Given the description of an element on the screen output the (x, y) to click on. 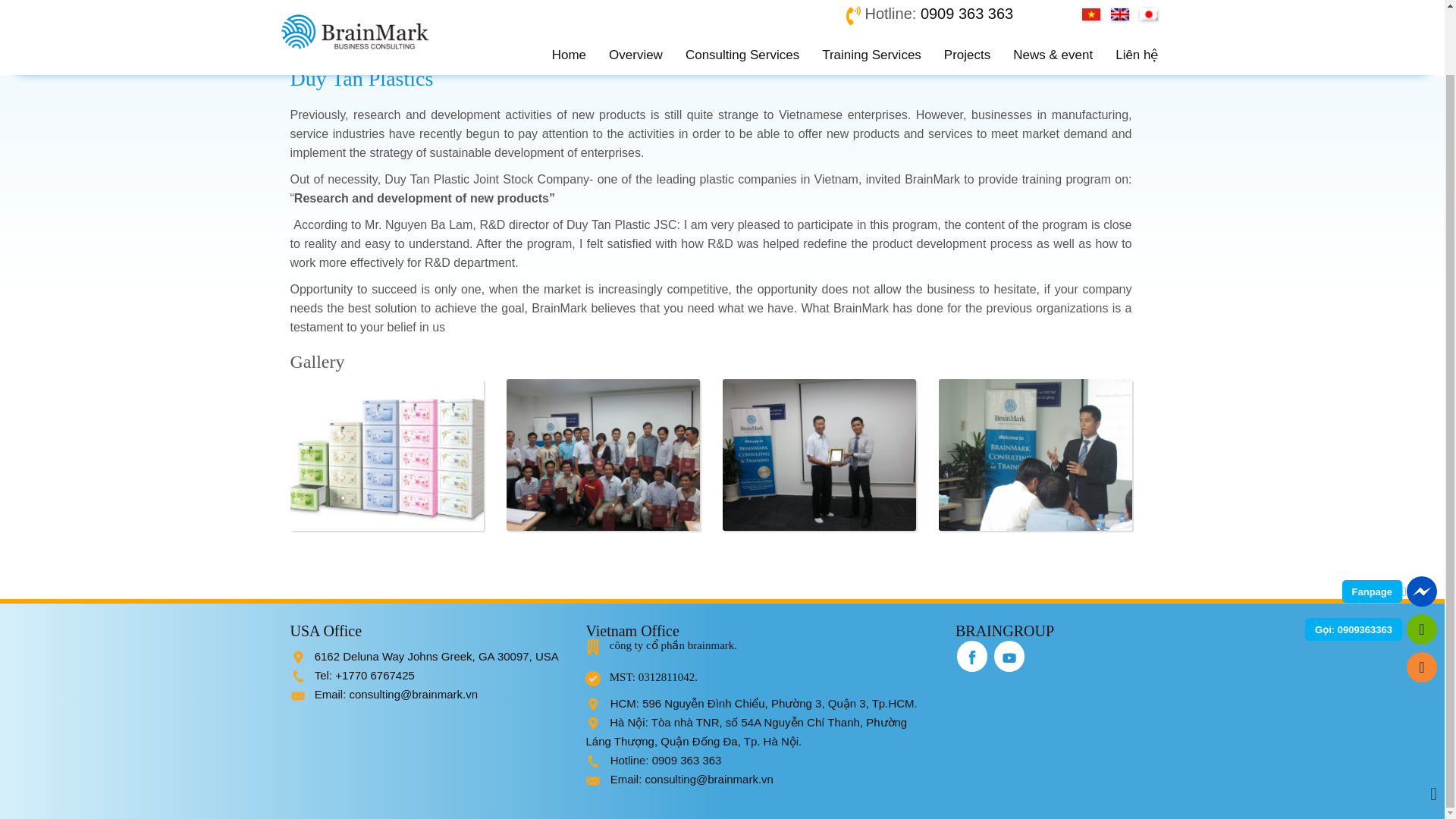
Training Services (871, 1)
Consulting Services (742, 1)
Overview (635, 1)
Go to Projects. (385, 38)
Home (568, 1)
Go to BrainMark. (318, 38)
